Given the description of an element on the screen output the (x, y) to click on. 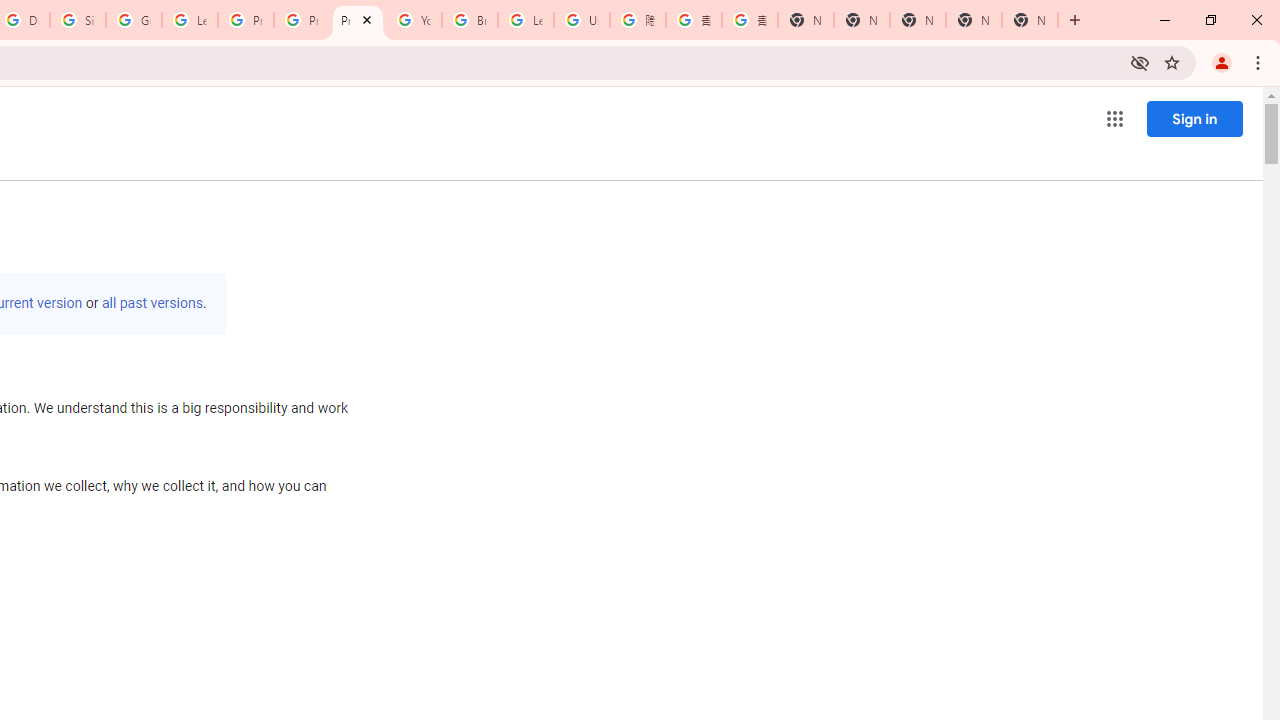
Privacy Help Center - Policies Help (245, 20)
all past versions (152, 303)
YouTube (413, 20)
